Given the description of an element on the screen output the (x, y) to click on. 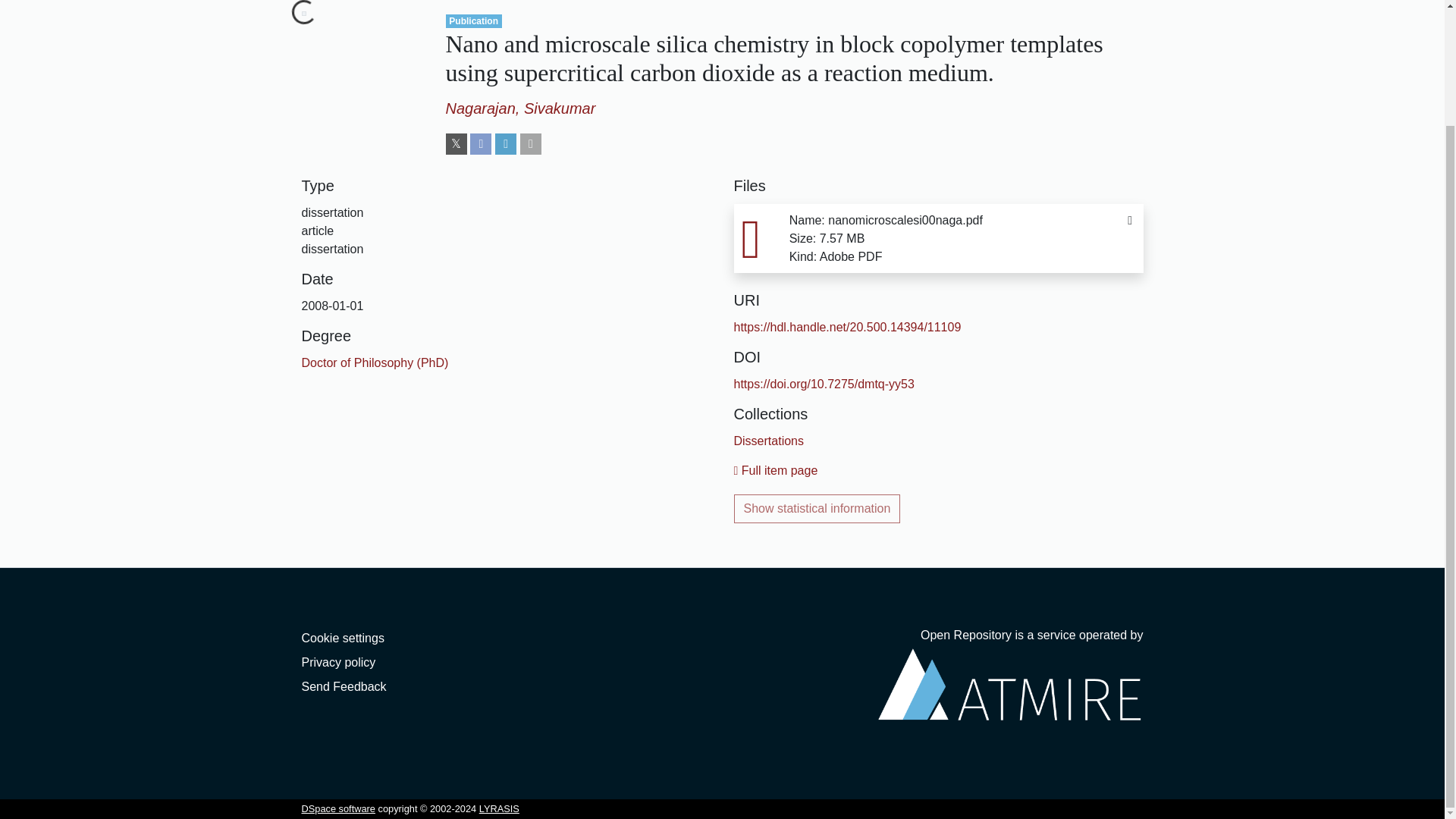
Full item page (775, 470)
DSpace software (338, 808)
Nagarajan, Sivakumar (520, 108)
Show statistical information (817, 508)
Send Feedback (344, 686)
Privacy policy (338, 662)
Dissertations (768, 440)
Cookie settings (342, 637)
LYRASIS (499, 808)
Open Repository is a service operated by (1009, 684)
